Given the description of an element on the screen output the (x, y) to click on. 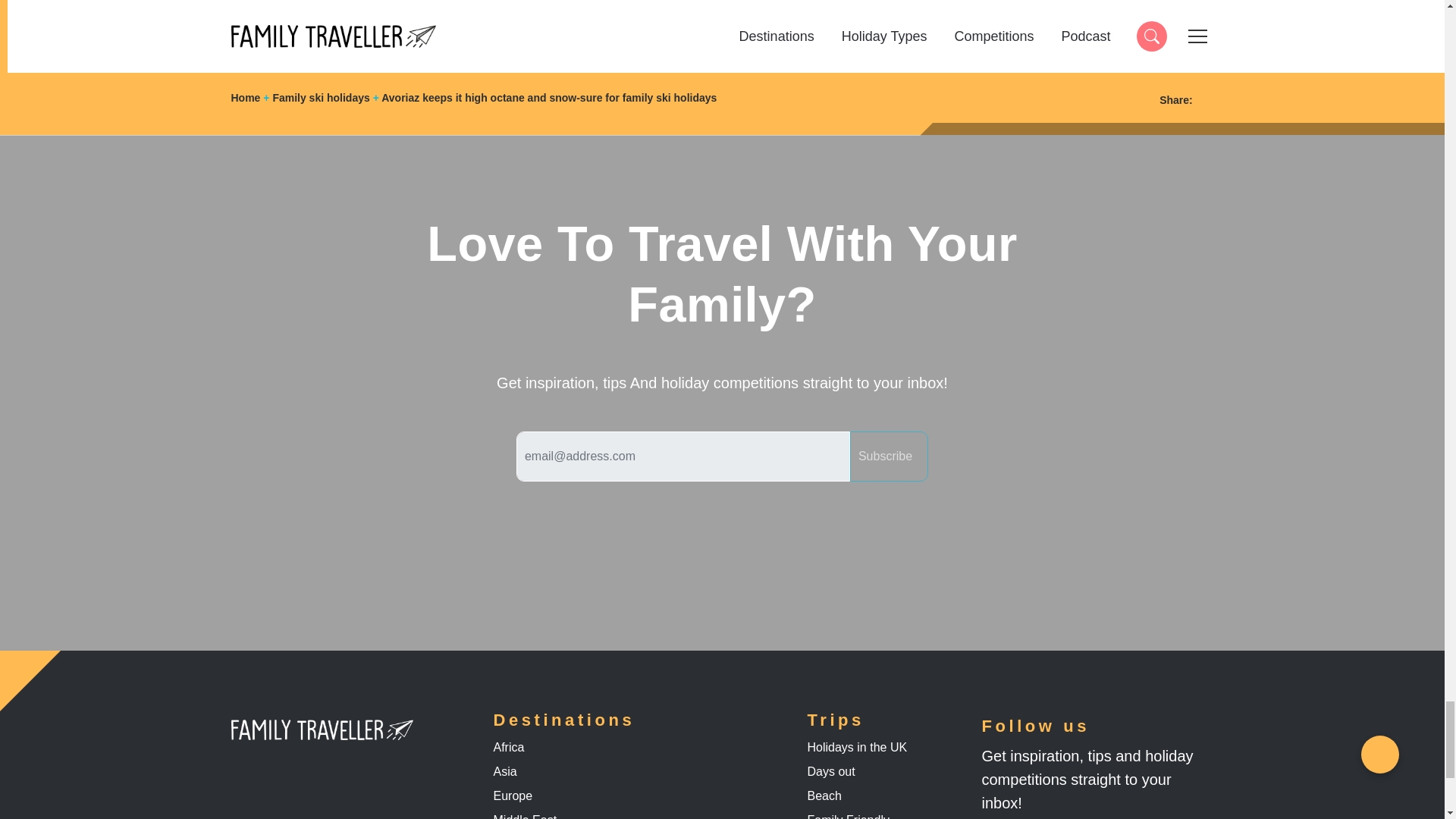
Subscribe (889, 456)
